Given the description of an element on the screen output the (x, y) to click on. 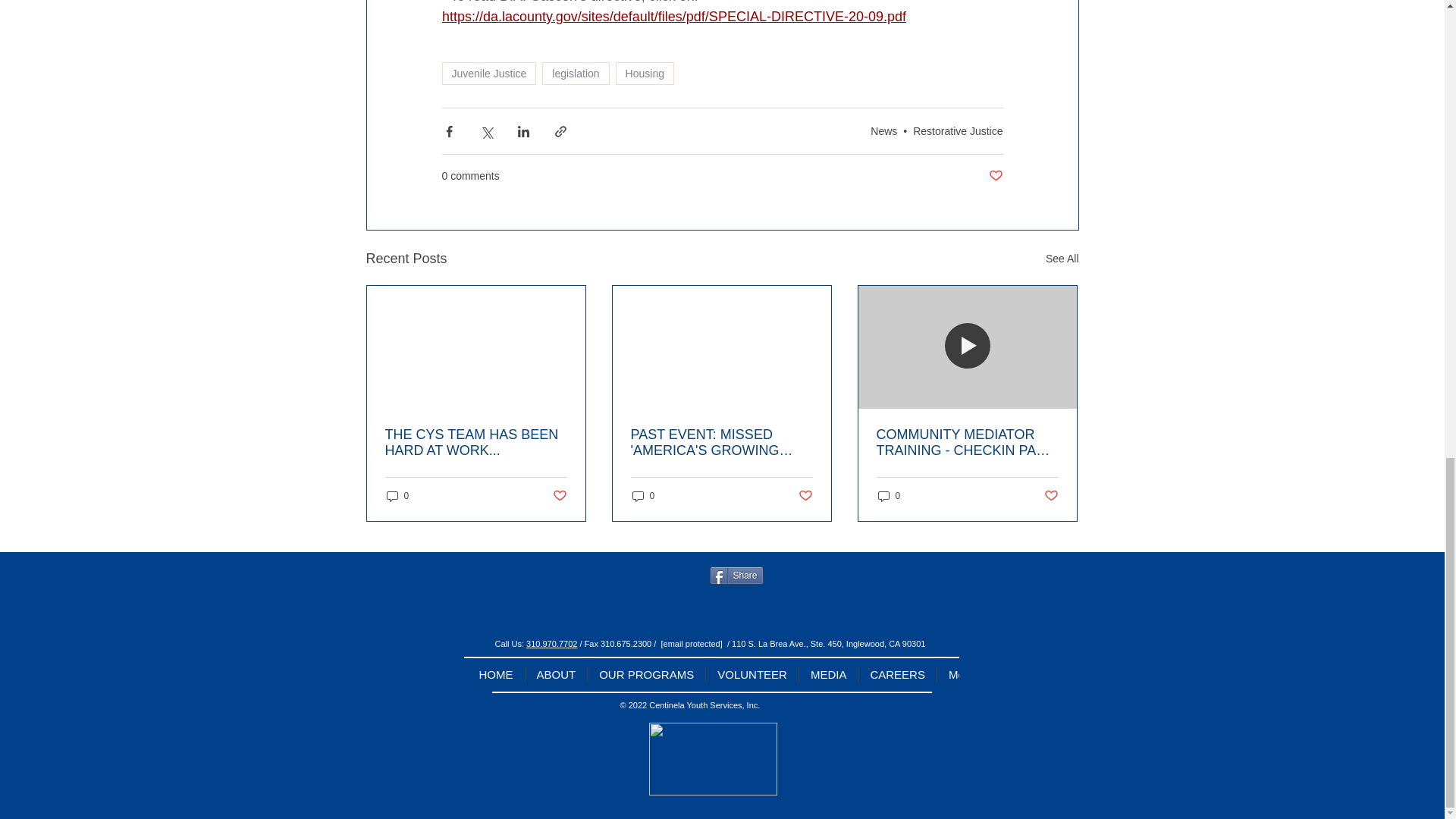
Juvenile Justice (488, 73)
News (883, 131)
legislation (574, 73)
Facebook Like (657, 575)
See All (1061, 259)
paypal-donate-button-high-quality-png.pn (713, 758)
THE CYS TEAM HAS BEEN HARD AT WORK... (476, 442)
Housing (644, 73)
Post not marked as liked (995, 176)
Restorative Justice (957, 131)
